Given the description of an element on the screen output the (x, y) to click on. 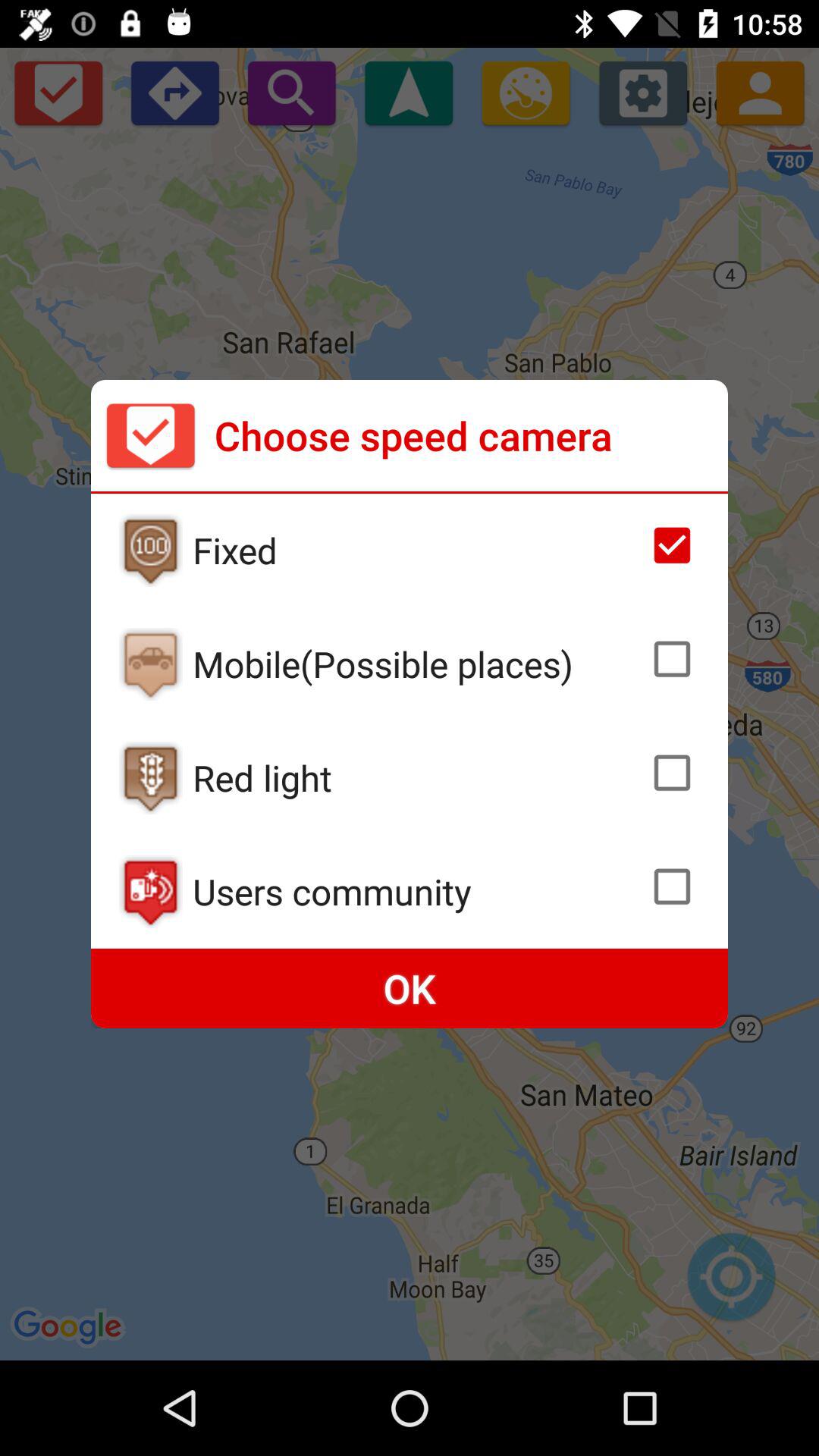
choose the fixed item (416, 550)
